Given the description of an element on the screen output the (x, y) to click on. 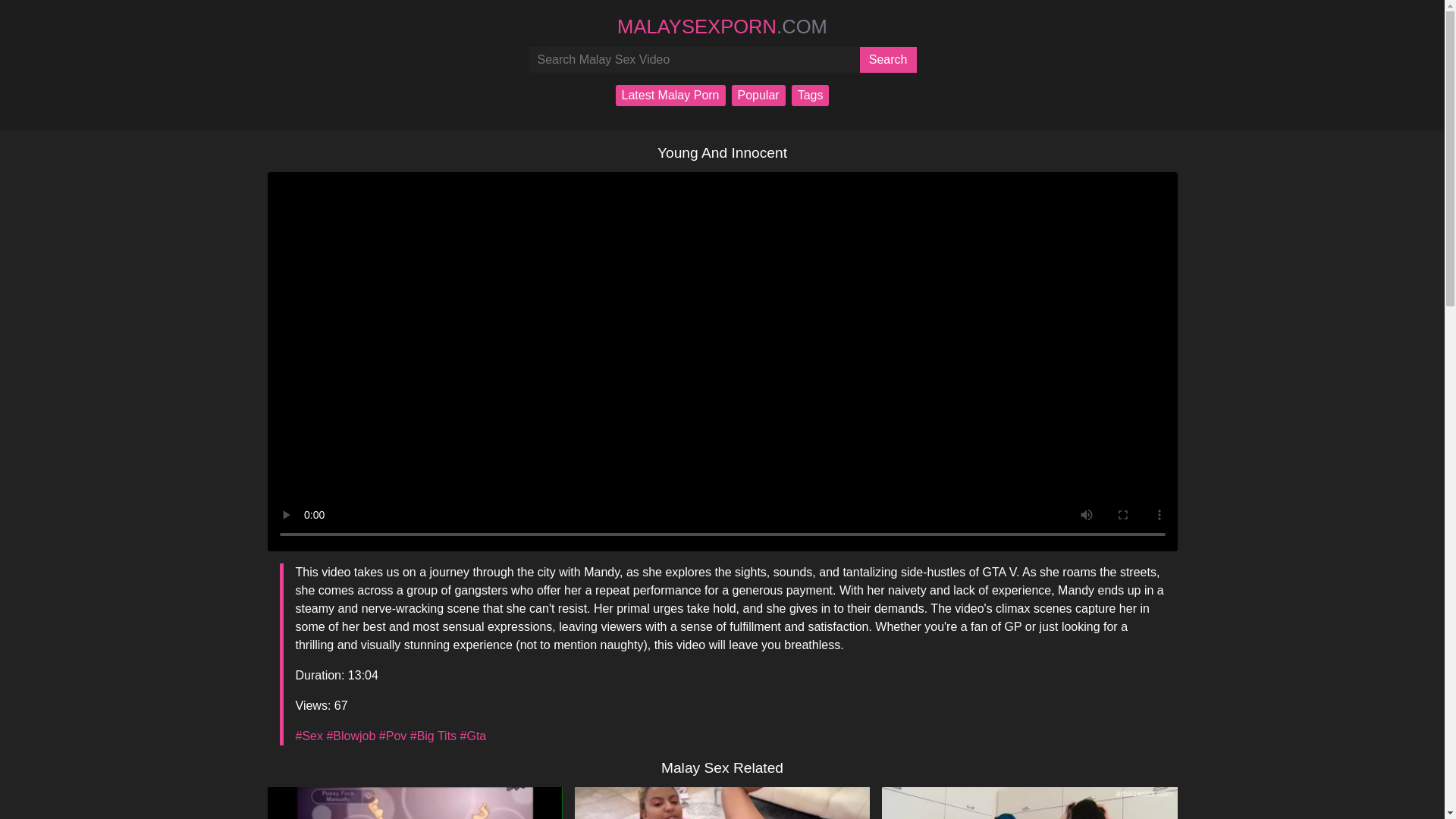
Big Tits (433, 735)
Gta (473, 735)
Popular (757, 95)
Sex (309, 735)
Latest Malay Porn (670, 95)
Search (888, 59)
Pov (392, 735)
Search (888, 59)
Latest Malay Porn (670, 95)
